Given the description of an element on the screen output the (x, y) to click on. 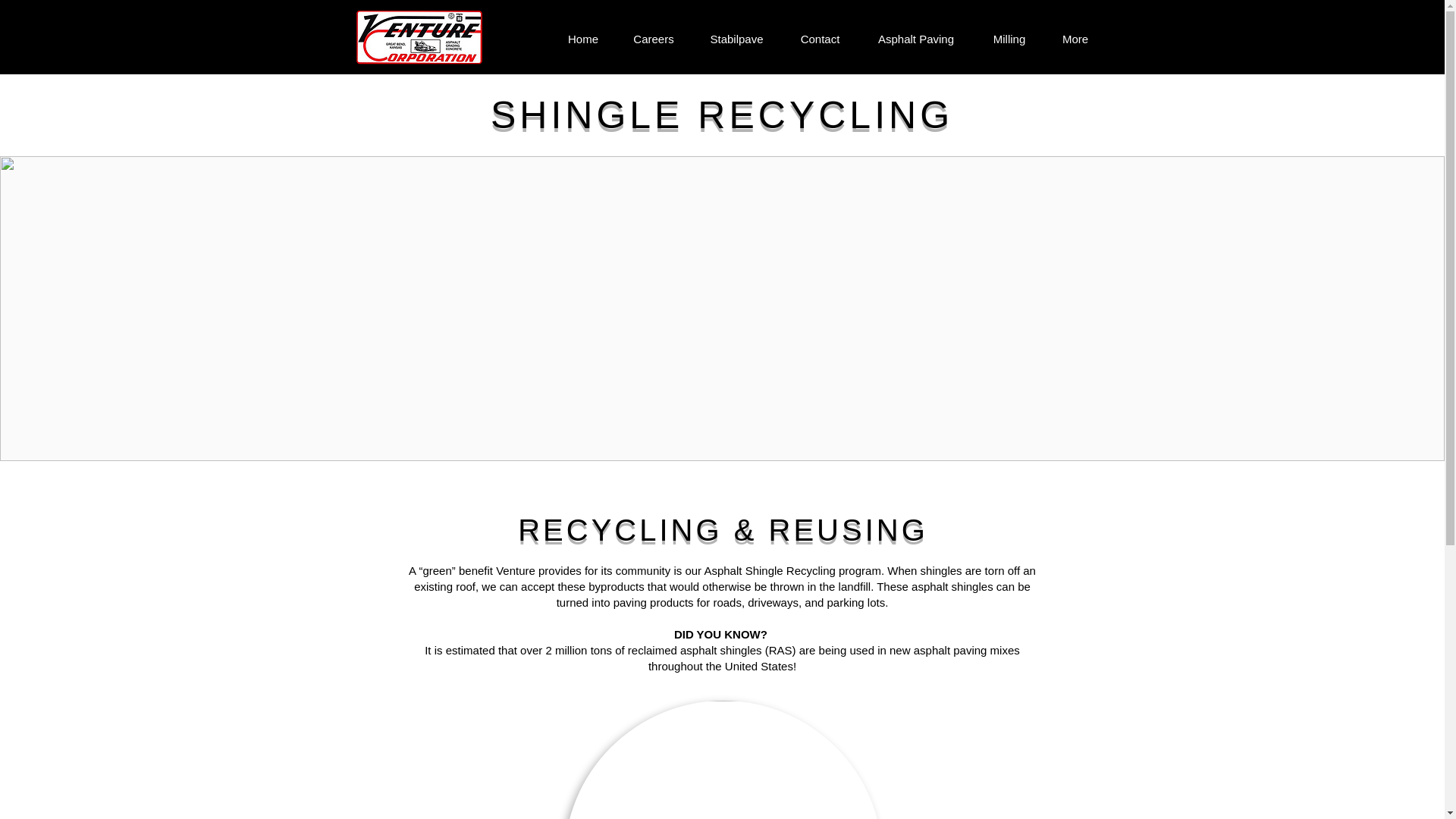
Asphalt Paving (916, 36)
Careers (652, 36)
Contact (821, 36)
Home (582, 36)
Stabilpave (737, 36)
Milling (1008, 36)
